Given the description of an element on the screen output the (x, y) to click on. 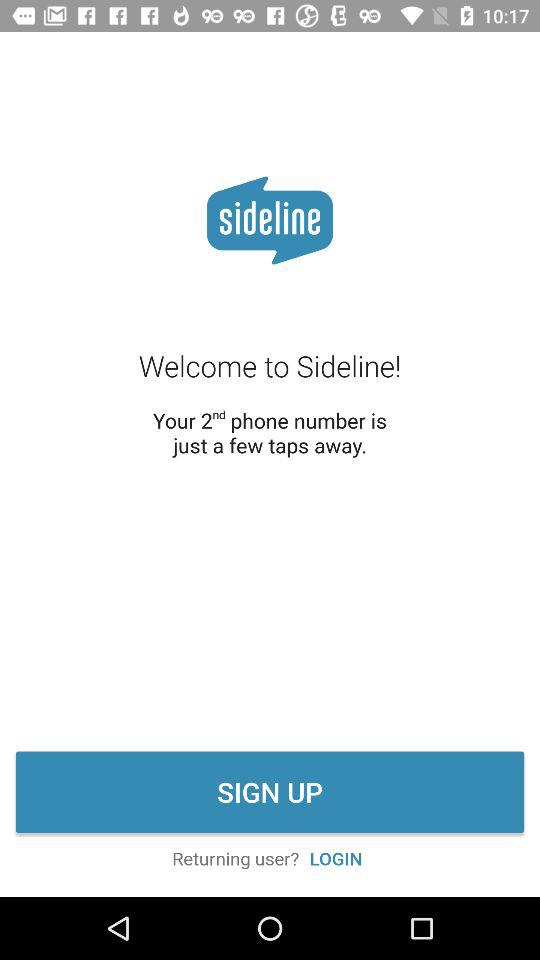
turn on the sign up (269, 791)
